Given the description of an element on the screen output the (x, y) to click on. 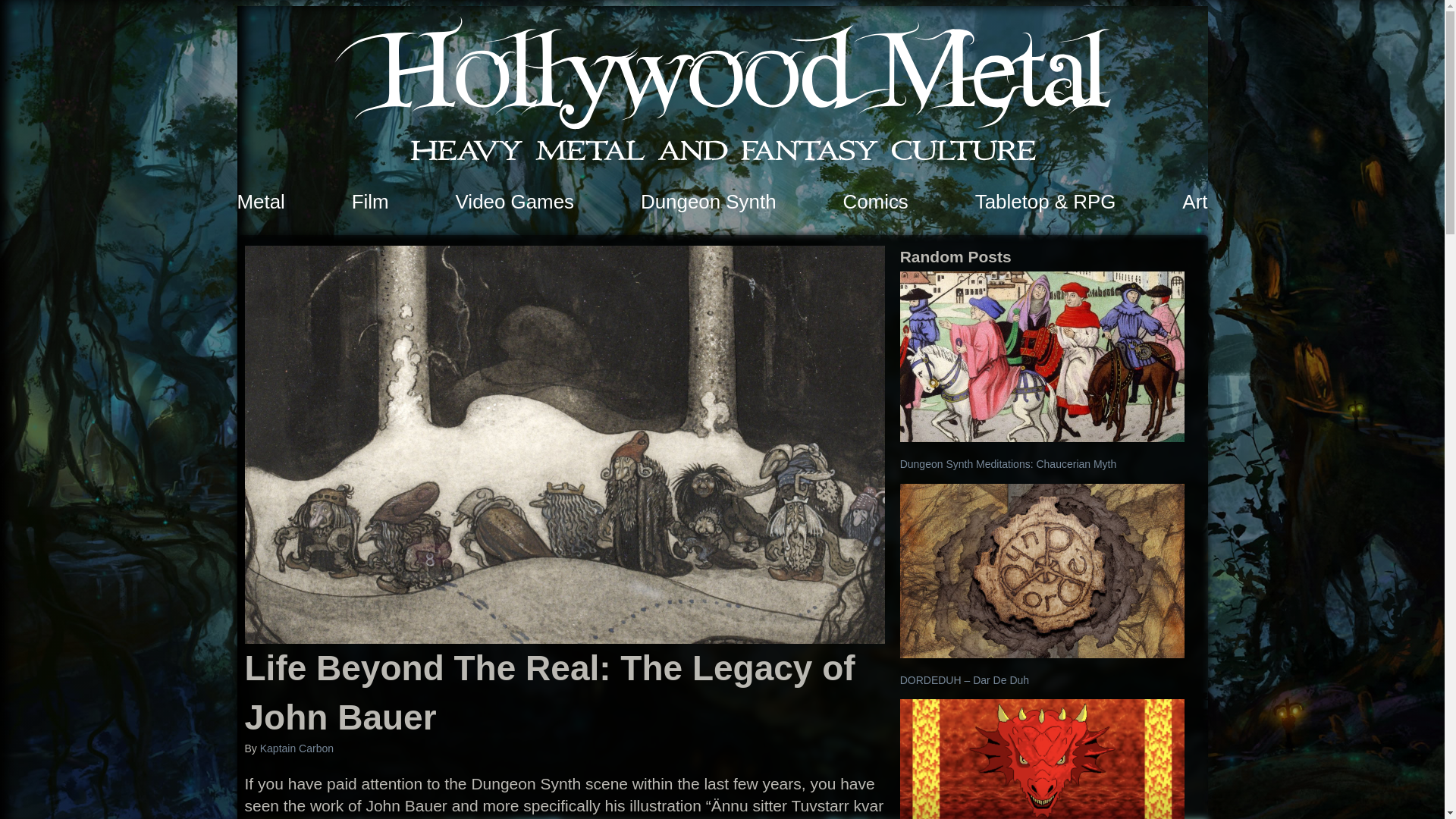
Posts by Kaptain Carbon (296, 748)
Comics (875, 201)
Metal (259, 201)
Video Games (515, 201)
Film (370, 201)
Art (1194, 201)
Dungeon Synth (708, 201)
Kaptain Carbon (296, 748)
Dungeon Synth Meditations: Chaucerian Myth (1007, 463)
